Given the description of an element on the screen output the (x, y) to click on. 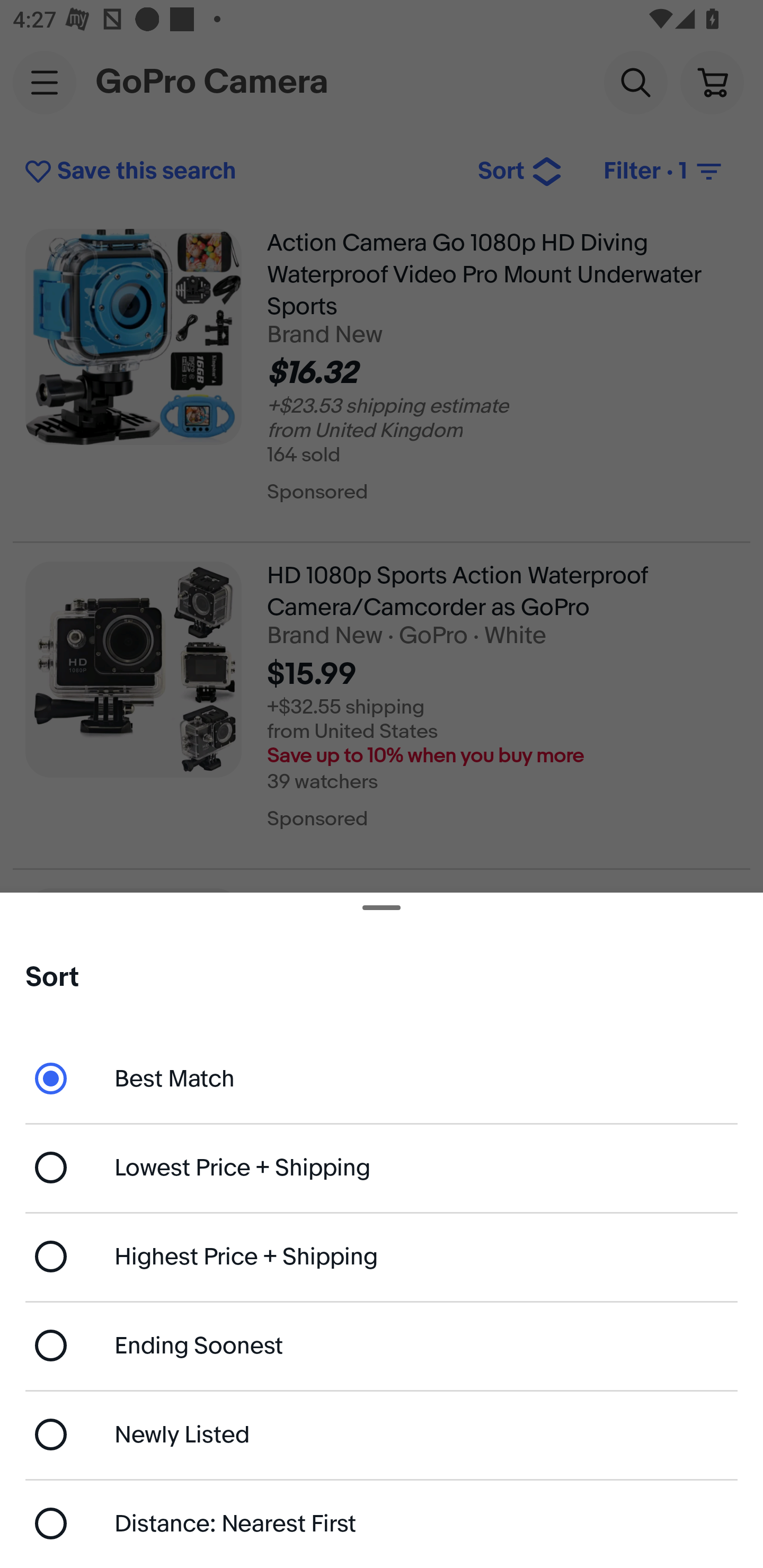
Best Match - currently selected Best Match (381, 1077)
Lowest Price + Shipping (381, 1167)
Highest Price + Shipping (381, 1256)
Ending Soonest (381, 1345)
Newly Listed (381, 1433)
Distance: Nearest First (381, 1523)
